Given the description of an element on the screen output the (x, y) to click on. 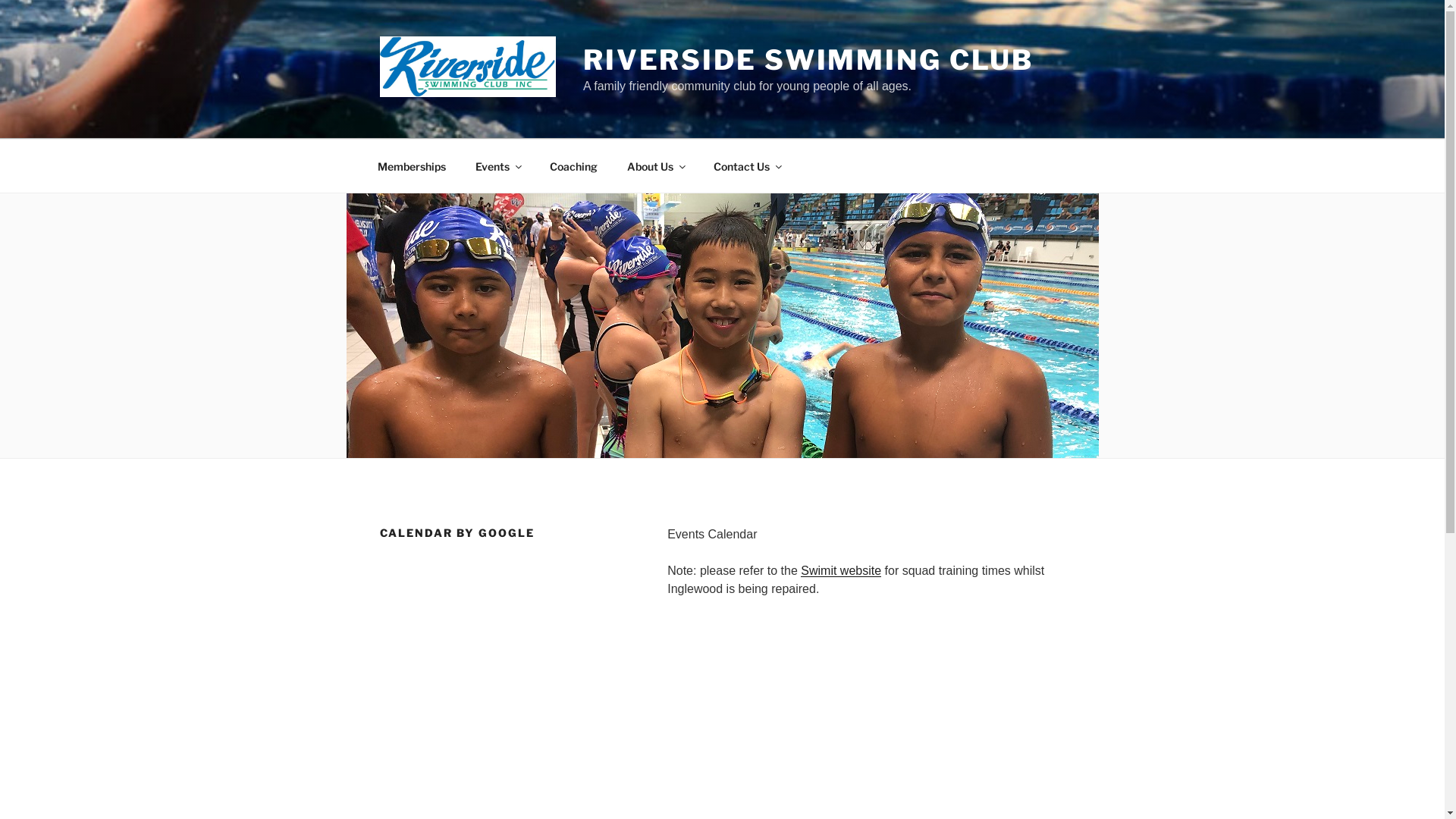
About Us Element type: text (654, 165)
Events Element type: text (497, 165)
Contact Us Element type: text (746, 165)
RIVERSIDE SWIMMING CLUB Element type: text (808, 59)
Coaching Element type: text (573, 165)
Memberships Element type: text (411, 165)
Swimit website Element type: text (840, 570)
